Given the description of an element on the screen output the (x, y) to click on. 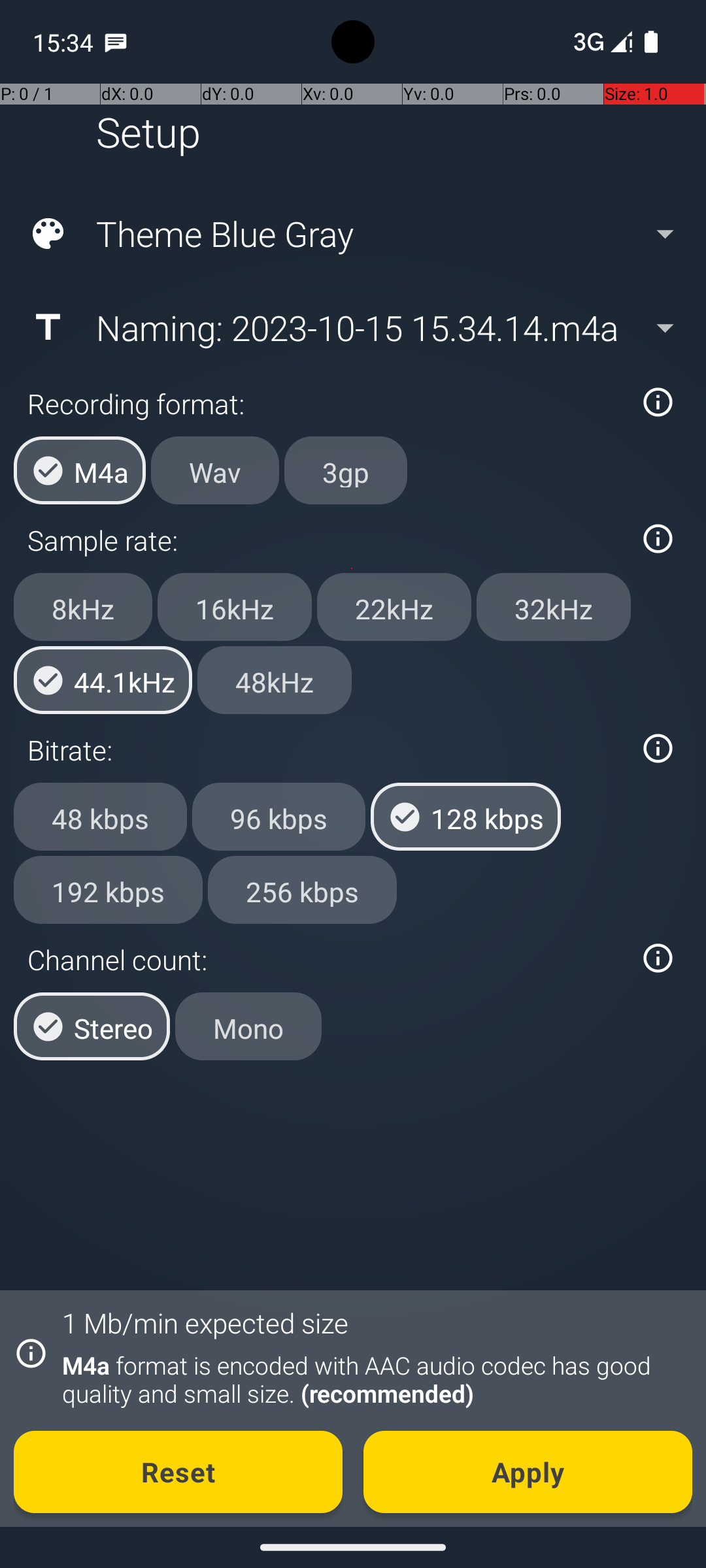
1 Mb/min expected size Element type: android.widget.TextView (205, 1322)
M4a format is encoded with AAC audio codec has good quality and small size. (recommended) Element type: android.widget.TextView (370, 1378)
Theme Blue Gray Element type: android.widget.TextView (352, 233)
Naming: 2023-10-15 15.34.14.m4a Element type: android.widget.TextView (352, 327)
Phone three bars. Element type: android.widget.FrameLayout (600, 41)
